Given the description of an element on the screen output the (x, y) to click on. 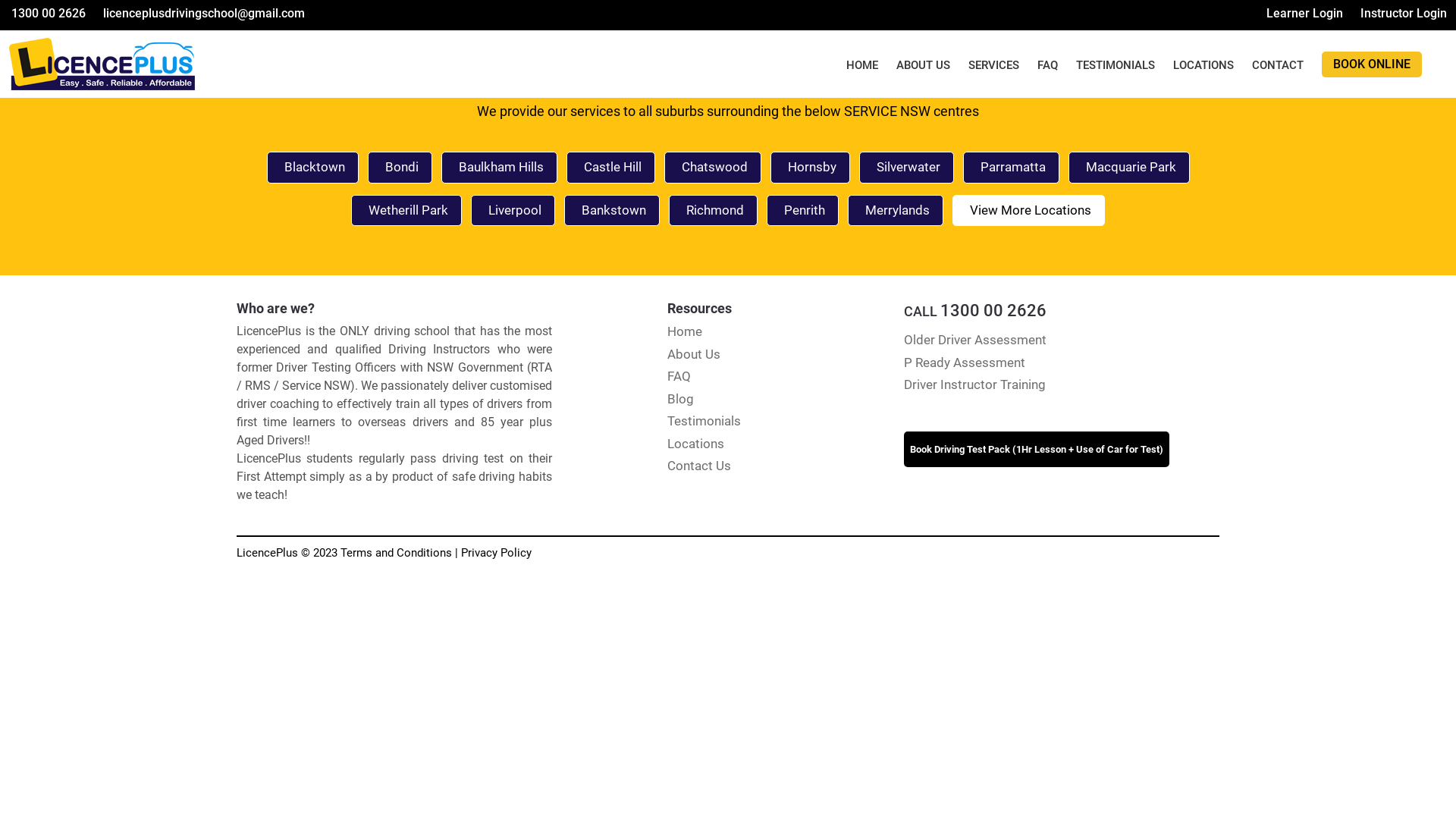
Hornsby Element type: text (810, 167)
Liverpool Element type: text (512, 209)
BOOK ONLINE Element type: text (1371, 64)
Testimonials Element type: text (703, 420)
Blog Element type: text (680, 398)
Macquarie Park Element type: text (1128, 167)
Bankstown Element type: text (611, 209)
Home Element type: text (684, 330)
Chatswood Element type: text (712, 167)
Silverwater Element type: text (905, 167)
Learner Login Element type: text (1303, 13)
HOME Element type: text (862, 65)
P Ready Assessment Element type: text (964, 362)
Older Driver Assessment Element type: text (974, 339)
FAQ Element type: text (678, 375)
licenceplusdrivingschool@gmail.com Element type: text (202, 13)
Blacktown Element type: text (312, 167)
TESTIMONIALS Element type: text (1115, 65)
1300 00 2626 Element type: text (47, 13)
Bondi Element type: text (399, 167)
SERVICES Element type: text (993, 65)
Terms and Conditions Element type: text (395, 552)
Book Driving Test Pack (1Hr Lesson + Use of Car for Test) Element type: text (1036, 448)
About Us Element type: text (693, 352)
1300 00 2626 Element type: text (993, 310)
LOCATIONS Element type: text (1203, 65)
Privacy Policy Element type: text (496, 552)
Locations Element type: text (695, 442)
Castle Hill Element type: text (609, 167)
Baulkham Hills Element type: text (499, 167)
View More Locations Element type: text (1028, 209)
Parramatta Element type: text (1011, 167)
Richmond Element type: text (712, 209)
Penrith Element type: text (802, 209)
Wetherill Park Element type: text (406, 209)
Contact Us Element type: text (699, 465)
Driver Instructor Training Element type: text (974, 384)
Instructor Login Element type: text (1402, 13)
CONTACT Element type: text (1277, 65)
FAQ Element type: text (1047, 65)
ABOUT US Element type: text (923, 65)
Merrylands Element type: text (895, 209)
